Given the description of an element on the screen output the (x, y) to click on. 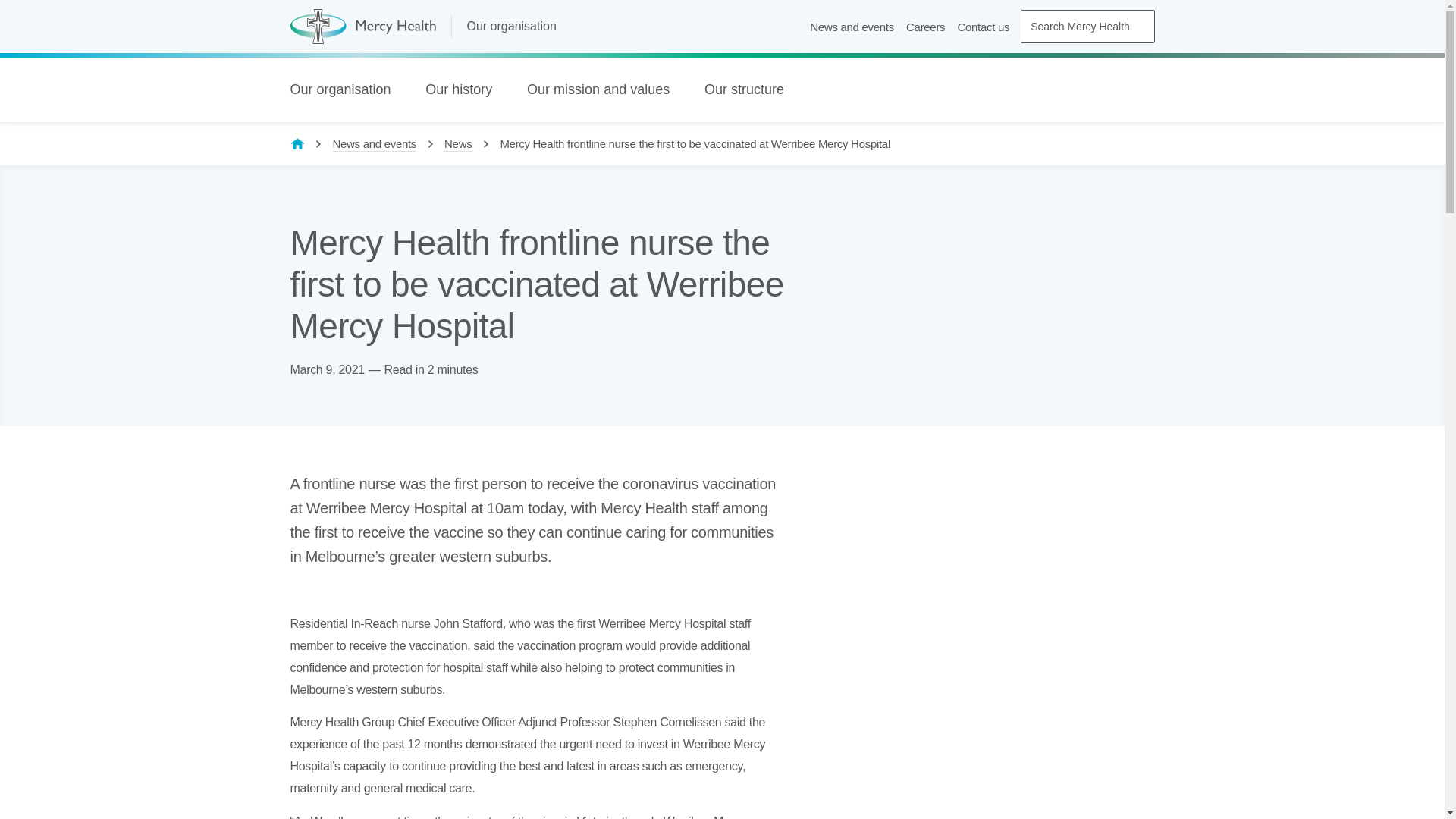
Mercy Health (home page) Element type: text (362, 26)
Our history Element type: text (464, 89)
Careers Element type: text (925, 26)
Our organisation Element type: text (345, 89)
Our mission and values Element type: text (604, 89)
Our organisation Element type: text (517, 26)
News and events Element type: text (374, 144)
Search Mercy Health Element type: text (1087, 26)
Contact us Element type: text (983, 26)
Our structure Element type: text (750, 89)
News Element type: text (457, 144)
Mercy Health Element type: text (296, 141)
News and events Element type: text (851, 26)
